Given the description of an element on the screen output the (x, y) to click on. 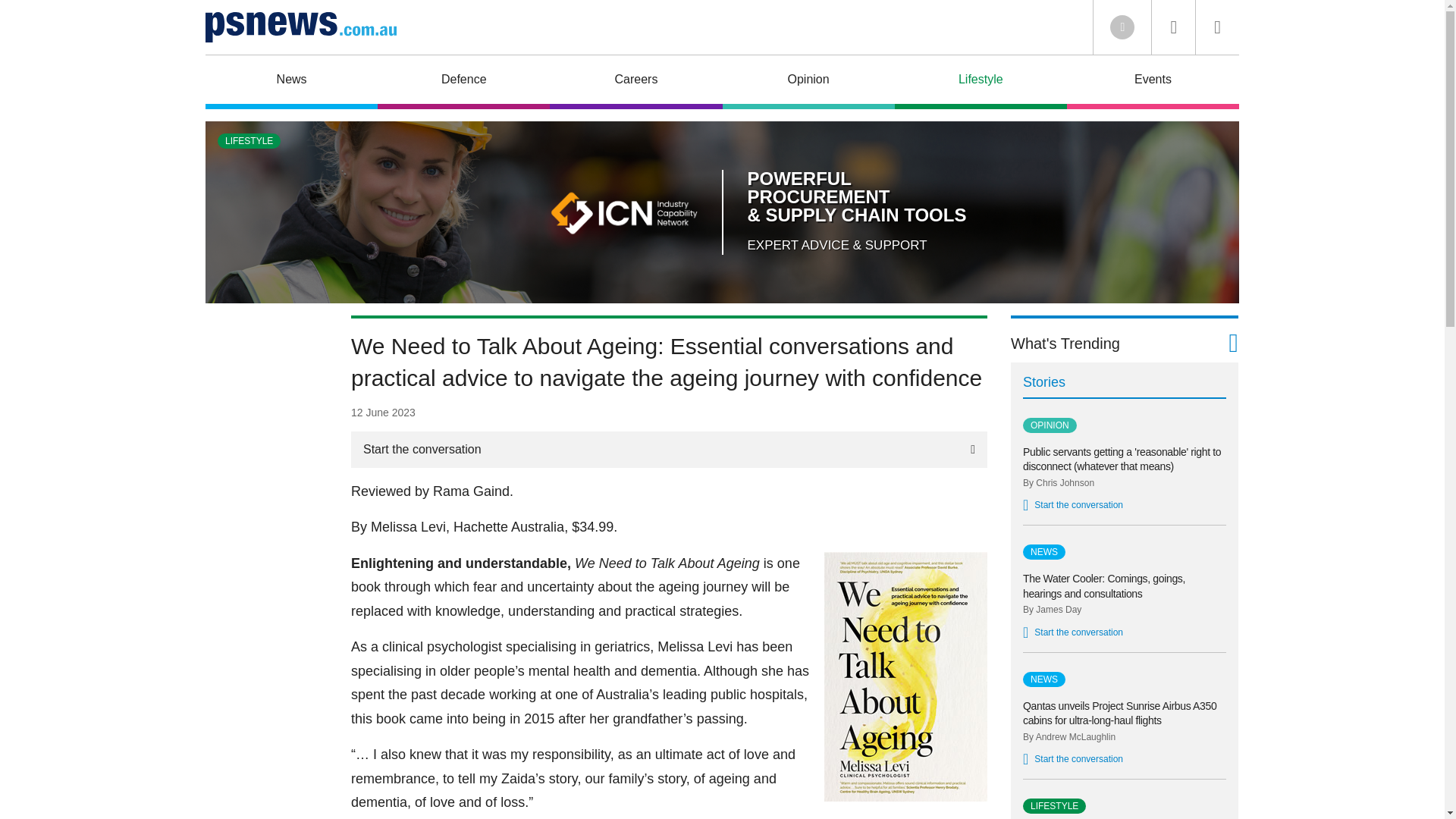
News (291, 81)
Defence (463, 81)
LinkedIn (1121, 27)
PS News Home (300, 26)
